Given the description of an element on the screen output the (x, y) to click on. 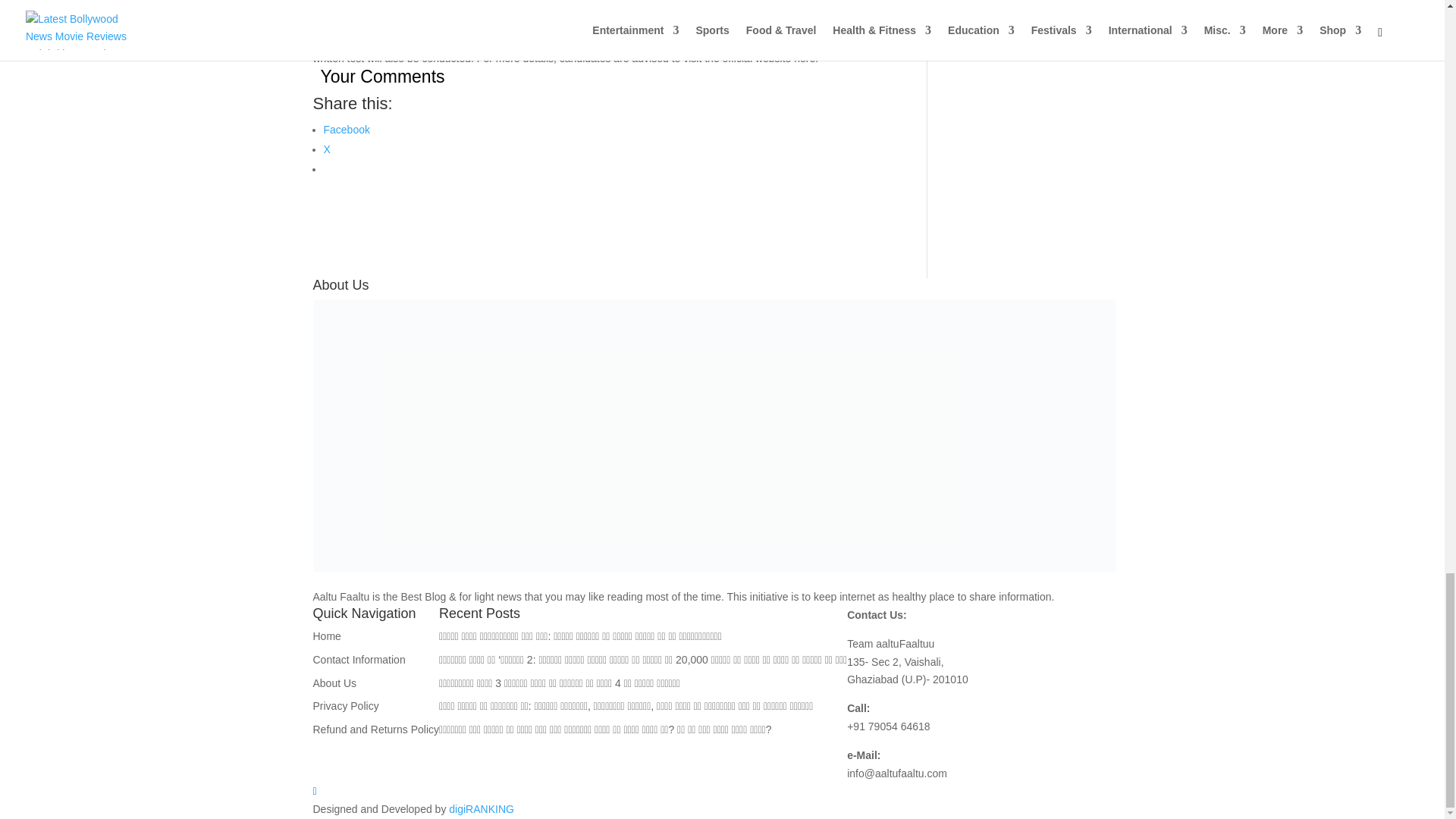
Click to share on Facebook (346, 129)
